Given the description of an element on the screen output the (x, y) to click on. 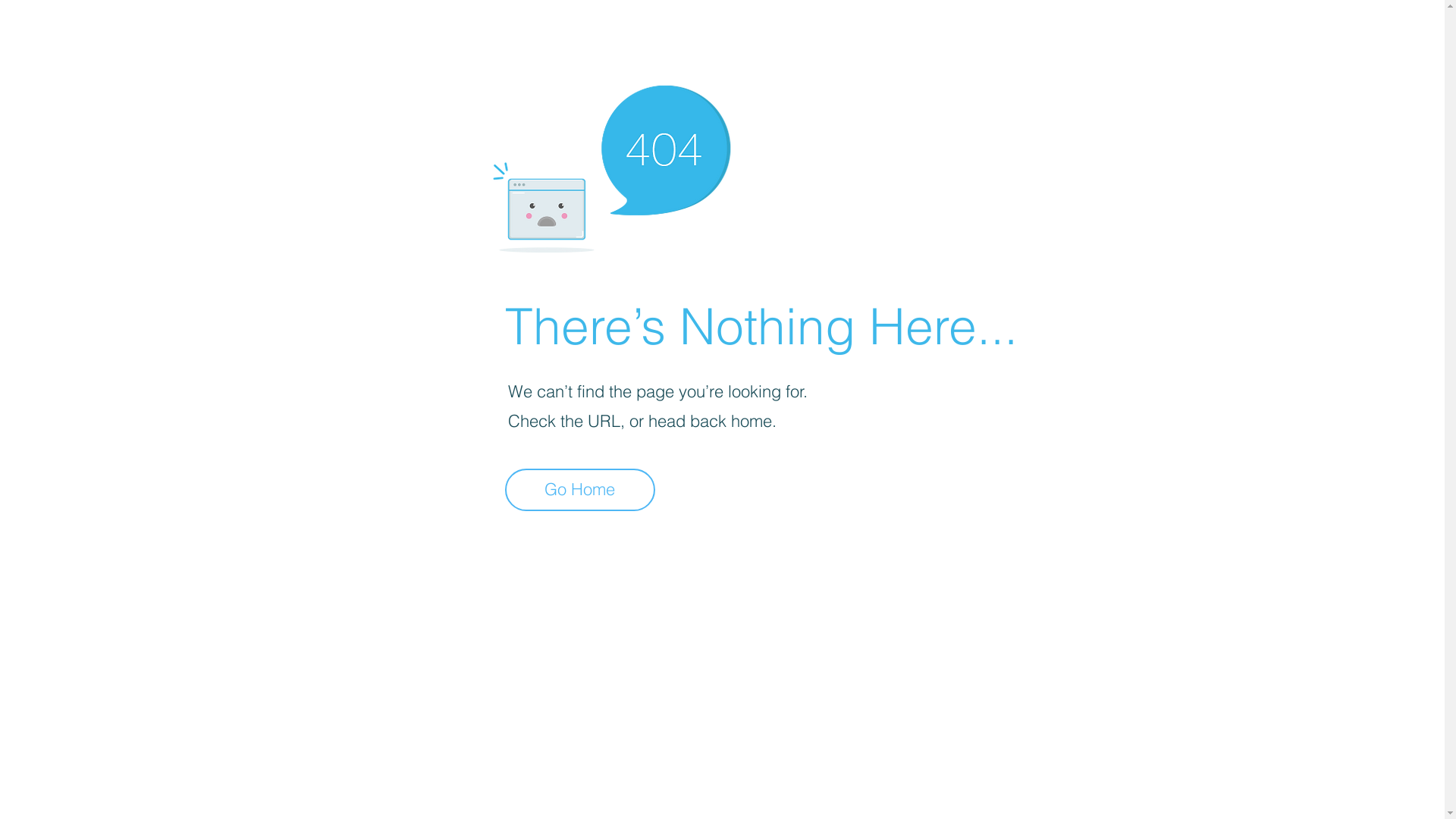
404-icon_2.png Element type: hover (610, 164)
Go Home Element type: text (580, 489)
